Given the description of an element on the screen output the (x, y) to click on. 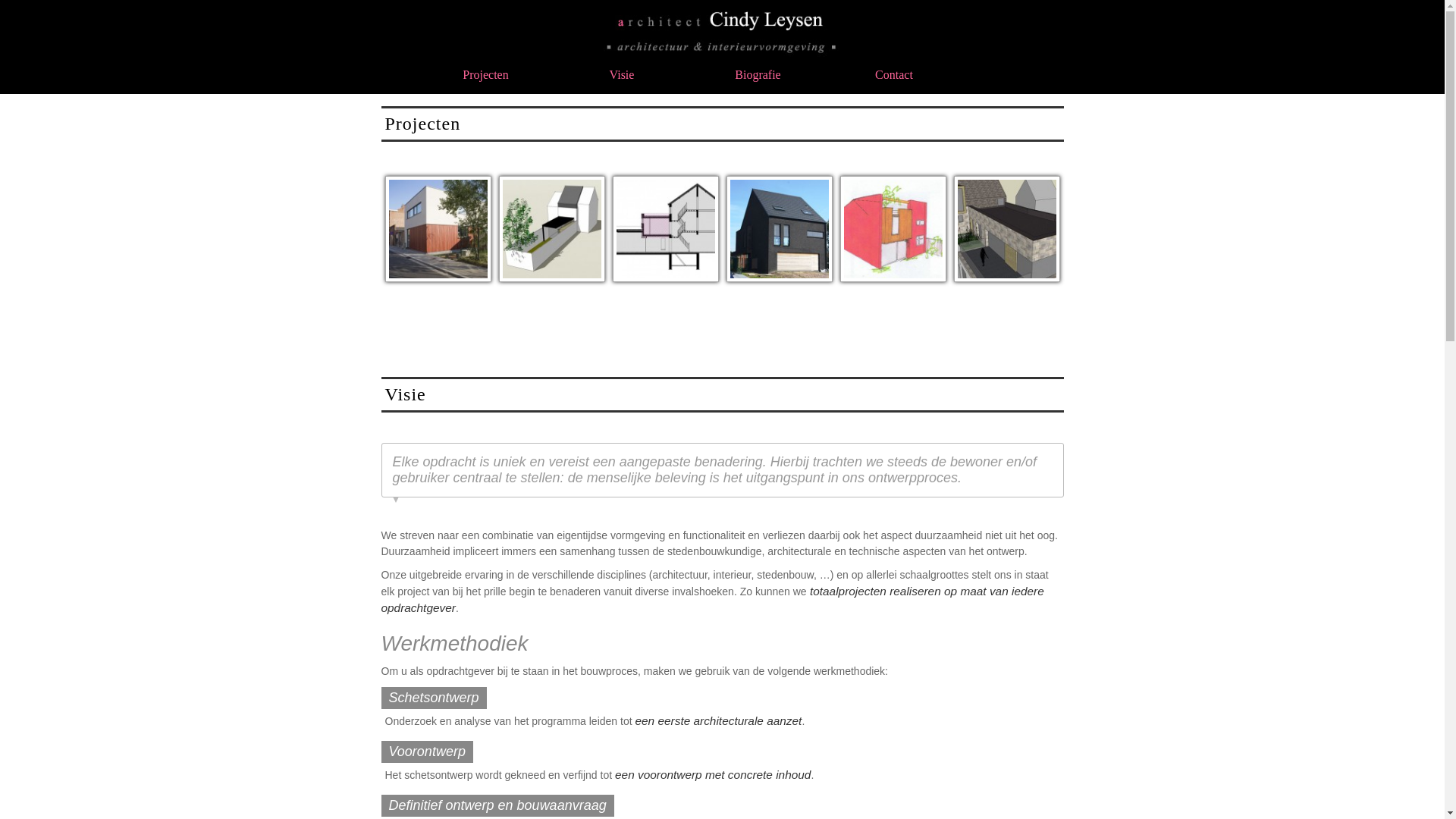
Woning WD Element type: hover (551, 228)
Woning BV Element type: hover (778, 228)
Woning VW Element type: hover (437, 228)
Woning VH Element type: hover (664, 228)
Projecten Element type: text (485, 74)
Visie Element type: text (621, 74)
Woning VM Element type: hover (1006, 228)
Biografie Element type: text (758, 74)
Contact Element type: text (893, 74)
Woning R Element type: hover (892, 228)
Cindy Leysen
architectuur & interieurvormgeving Element type: text (722, 31)
